Given the description of an element on the screen output the (x, y) to click on. 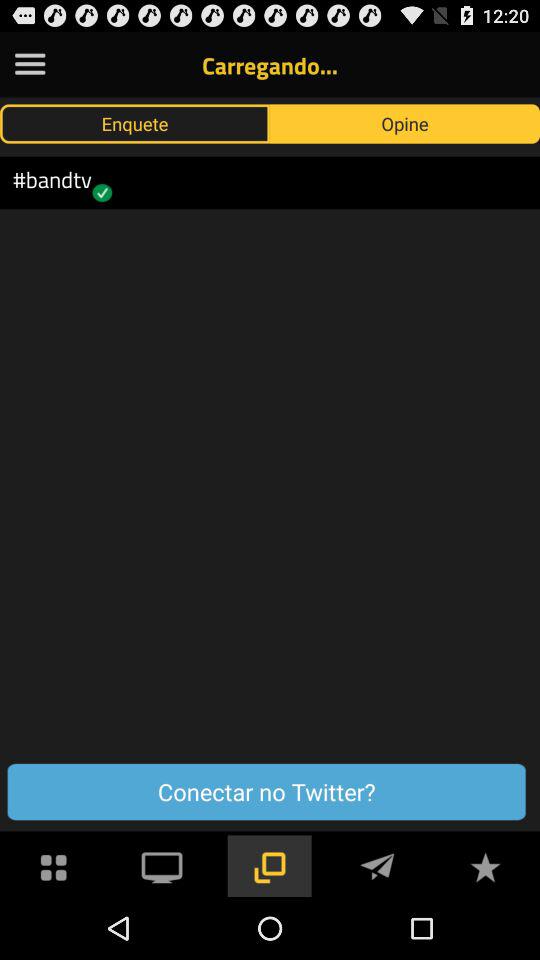
star symbol (485, 865)
